Given the description of an element on the screen output the (x, y) to click on. 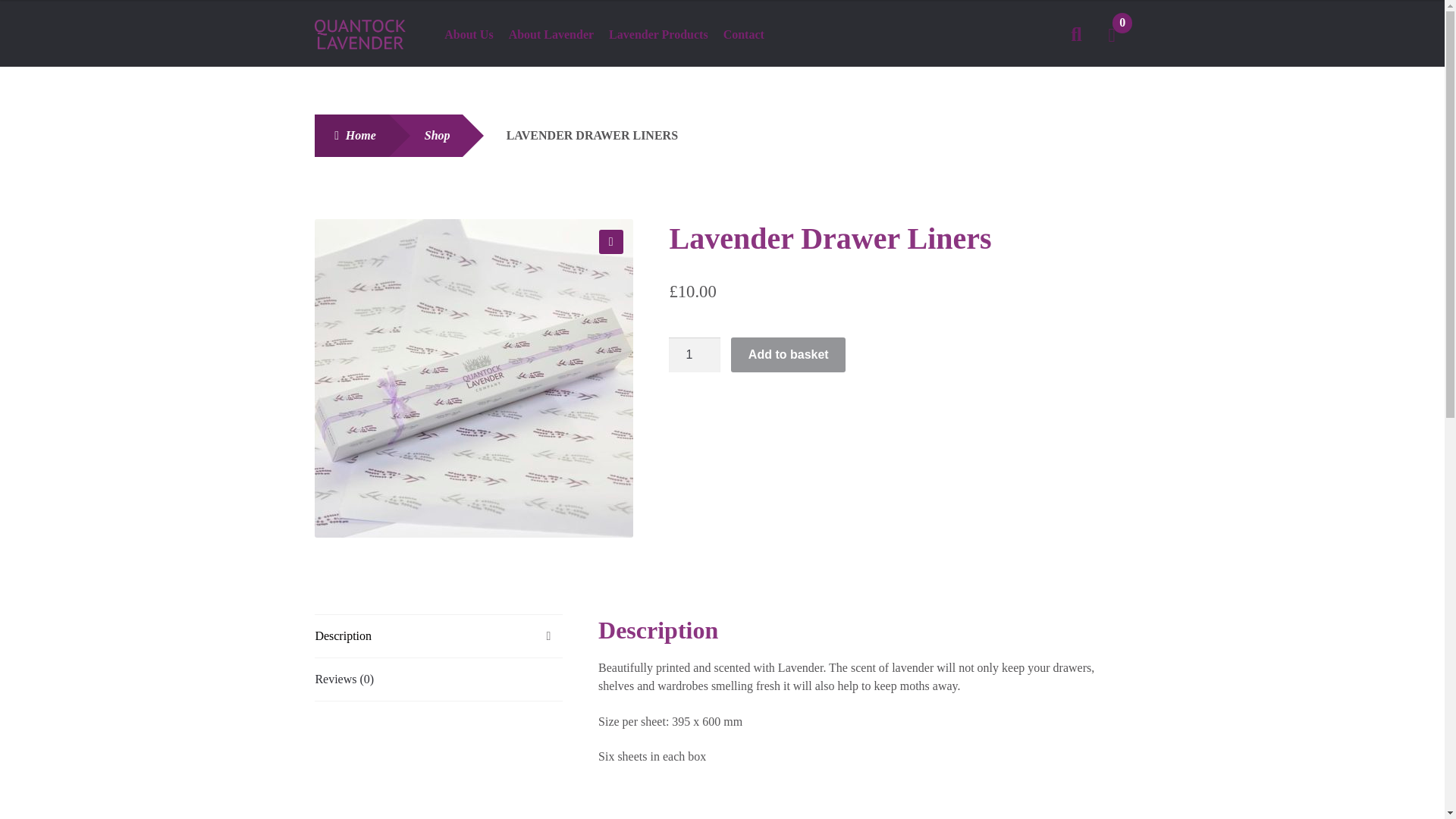
Description (438, 636)
Contact (743, 36)
About Us (468, 36)
Qty (694, 354)
About Lavender (551, 36)
Home (350, 135)
1 (694, 354)
Add to basket (787, 354)
Shop (425, 135)
Lavender Products (657, 36)
